Given the description of an element on the screen output the (x, y) to click on. 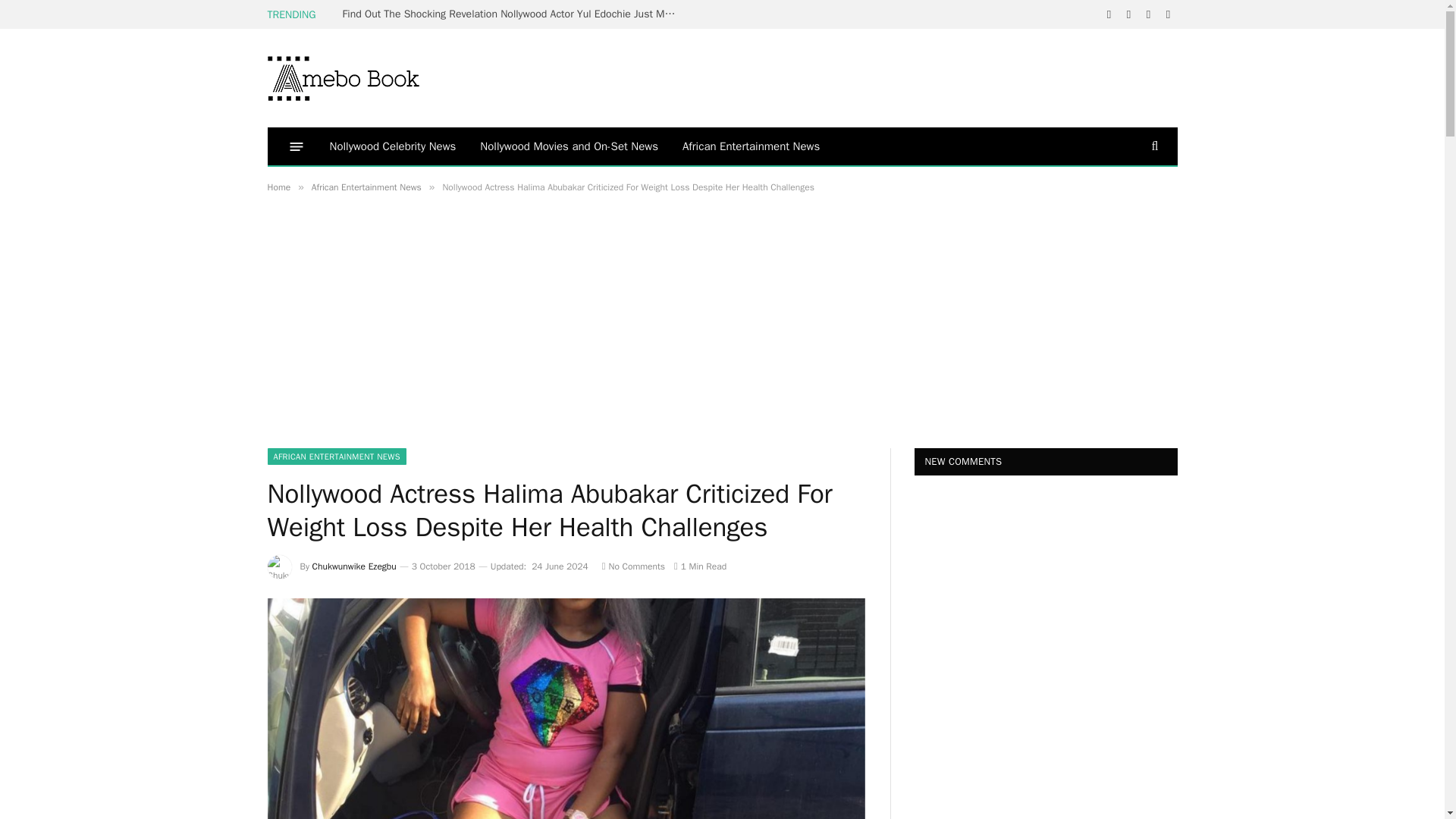
AFRICAN ENTERTAINMENT NEWS (336, 456)
Advertisement (393, 331)
No Comments (633, 566)
Home (277, 186)
Chukwunwike Ezegbu (354, 566)
Posts by Chukwunwike Ezegbu (354, 566)
Nollywood Celebrity News (392, 146)
African Entertainment News (750, 146)
Advertisement (901, 75)
African Entertainment News (366, 186)
Amebo Book (342, 78)
Nollywood Movies and On-Set News (568, 146)
